Given the description of an element on the screen output the (x, y) to click on. 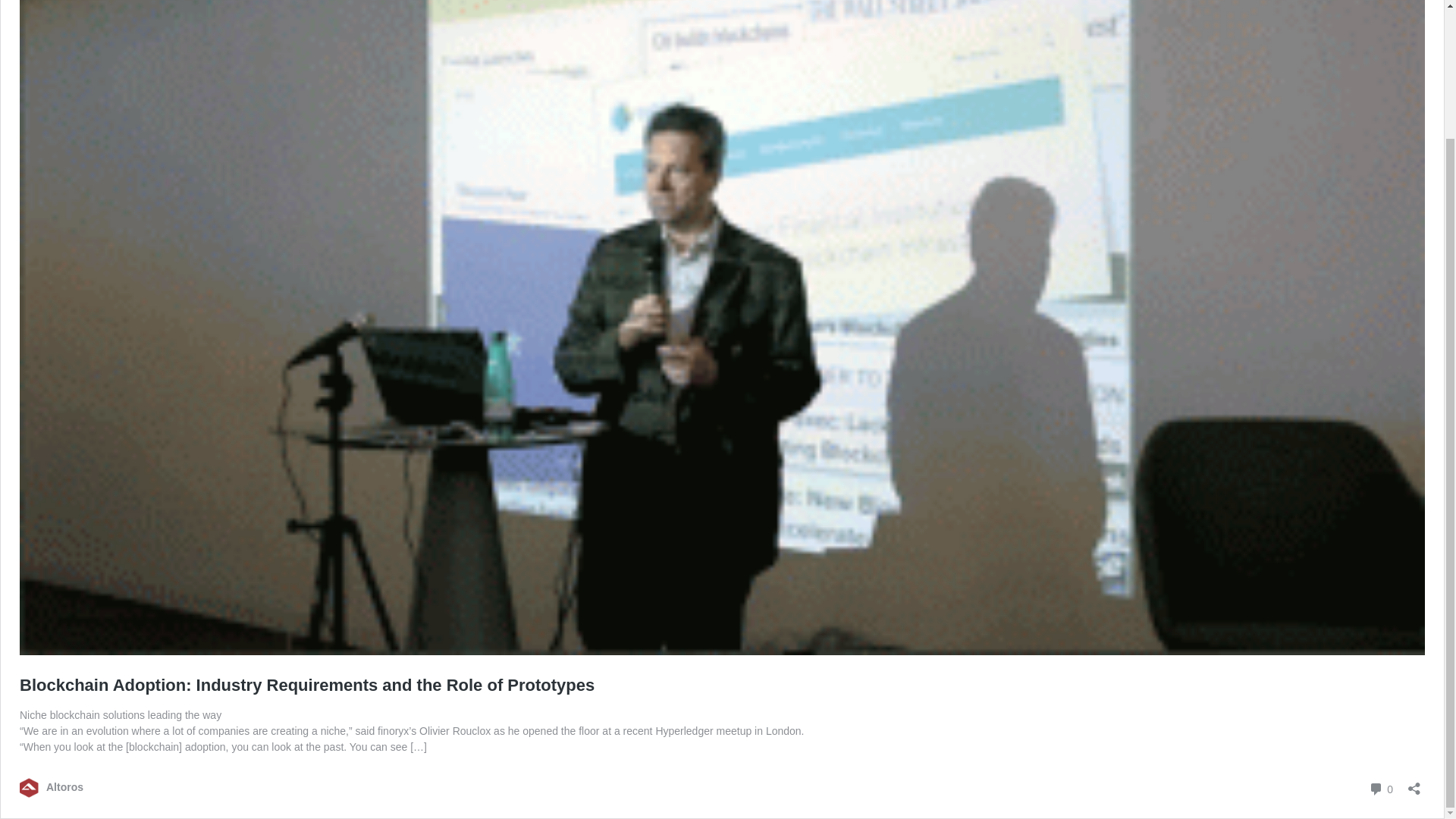
Altoros (1380, 788)
